Given the description of an element on the screen output the (x, y) to click on. 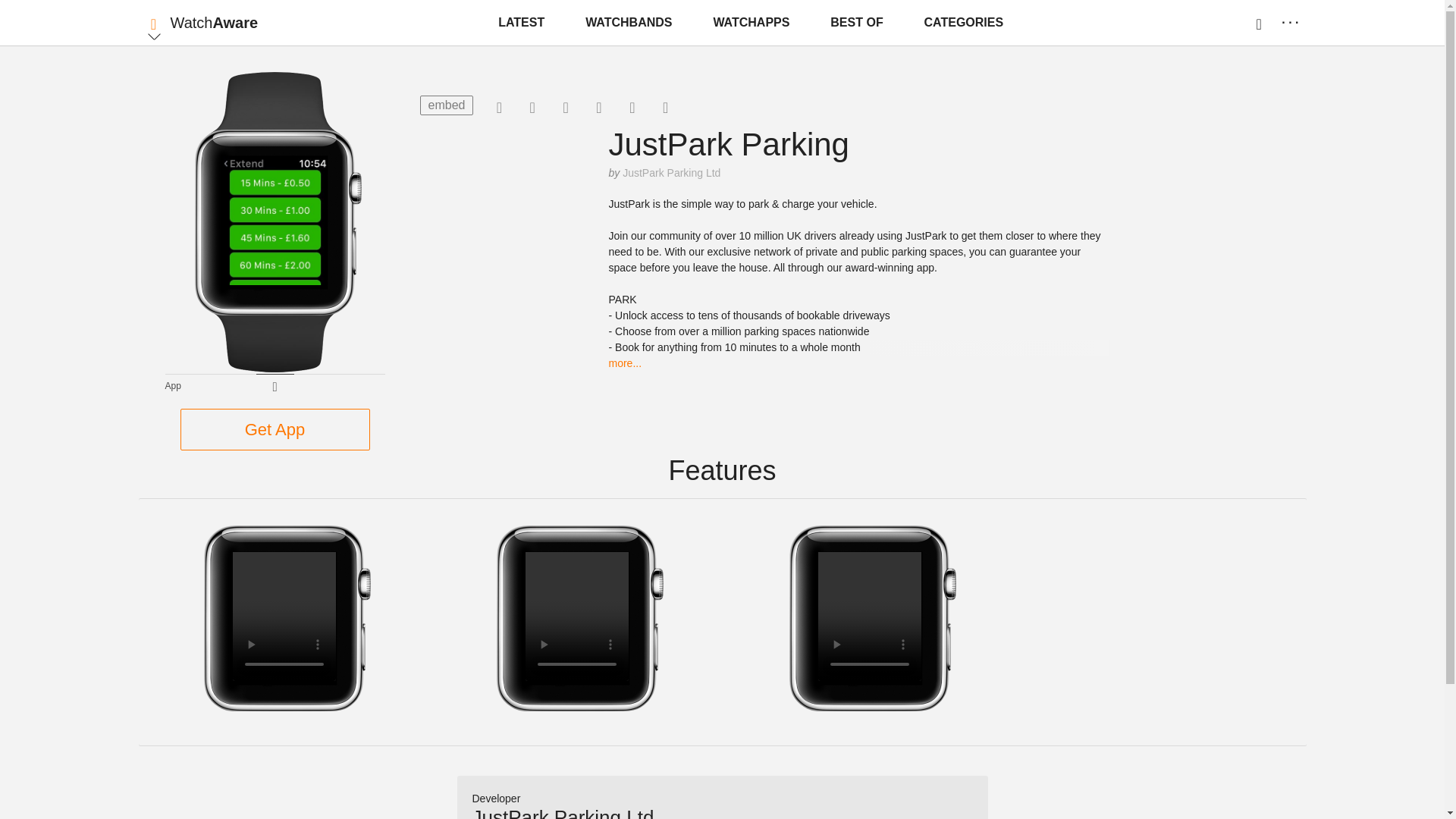
WATCHAPPS (751, 22)
WatchAware (213, 22)
LATEST (520, 22)
WATCHBANDS (628, 22)
embed (447, 105)
BEST OF (855, 22)
CATEGORIES (964, 22)
